Given the description of an element on the screen output the (x, y) to click on. 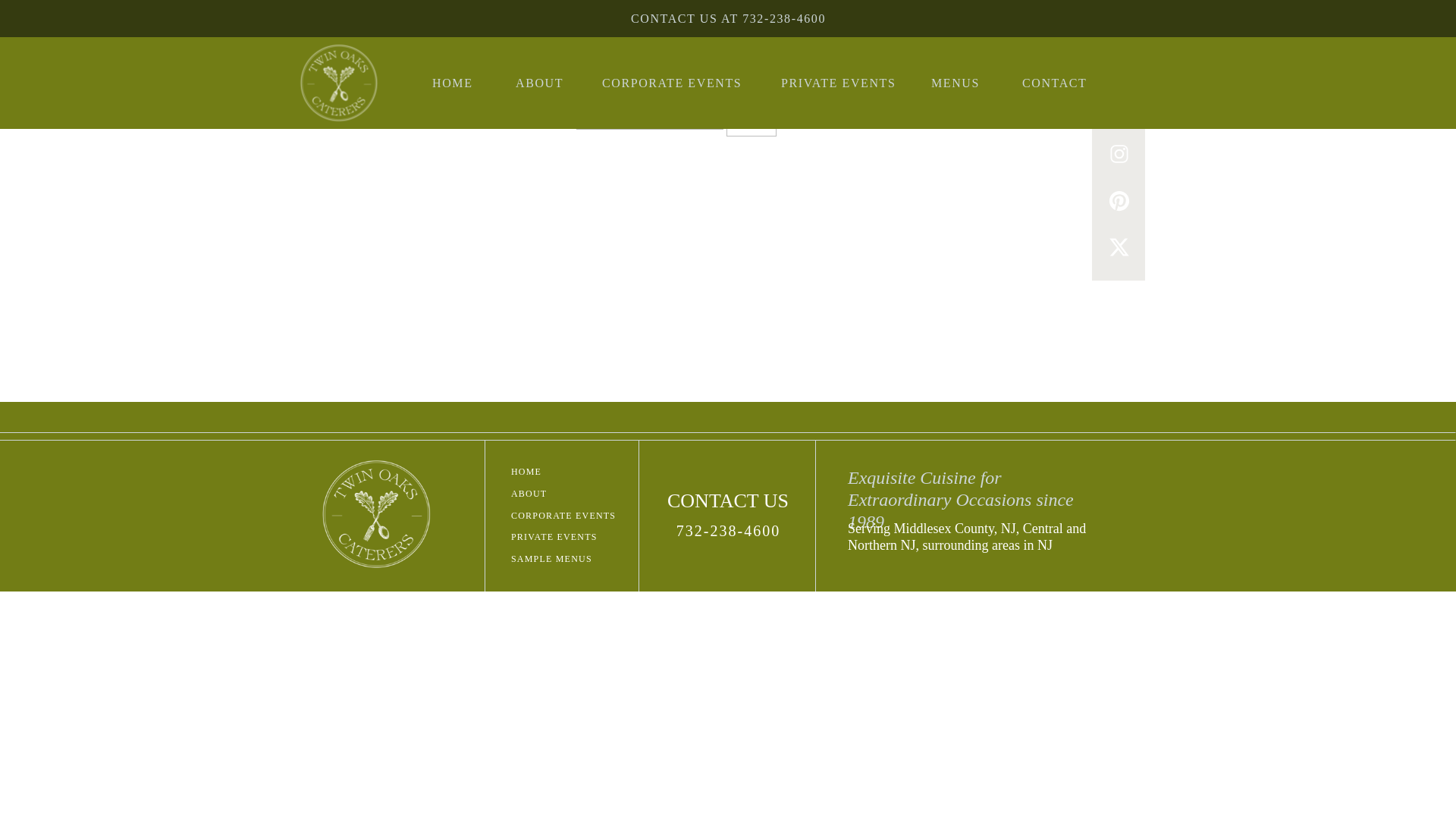
MENUS (967, 82)
PRIVATE EVENTS (570, 536)
ABOUT (547, 82)
PRIVATE EVENTS (847, 82)
HOME (464, 82)
Search (751, 121)
HOME (542, 472)
ABOUT (542, 493)
CORPORATE EVENTS (570, 515)
Search (751, 121)
